Given the description of an element on the screen output the (x, y) to click on. 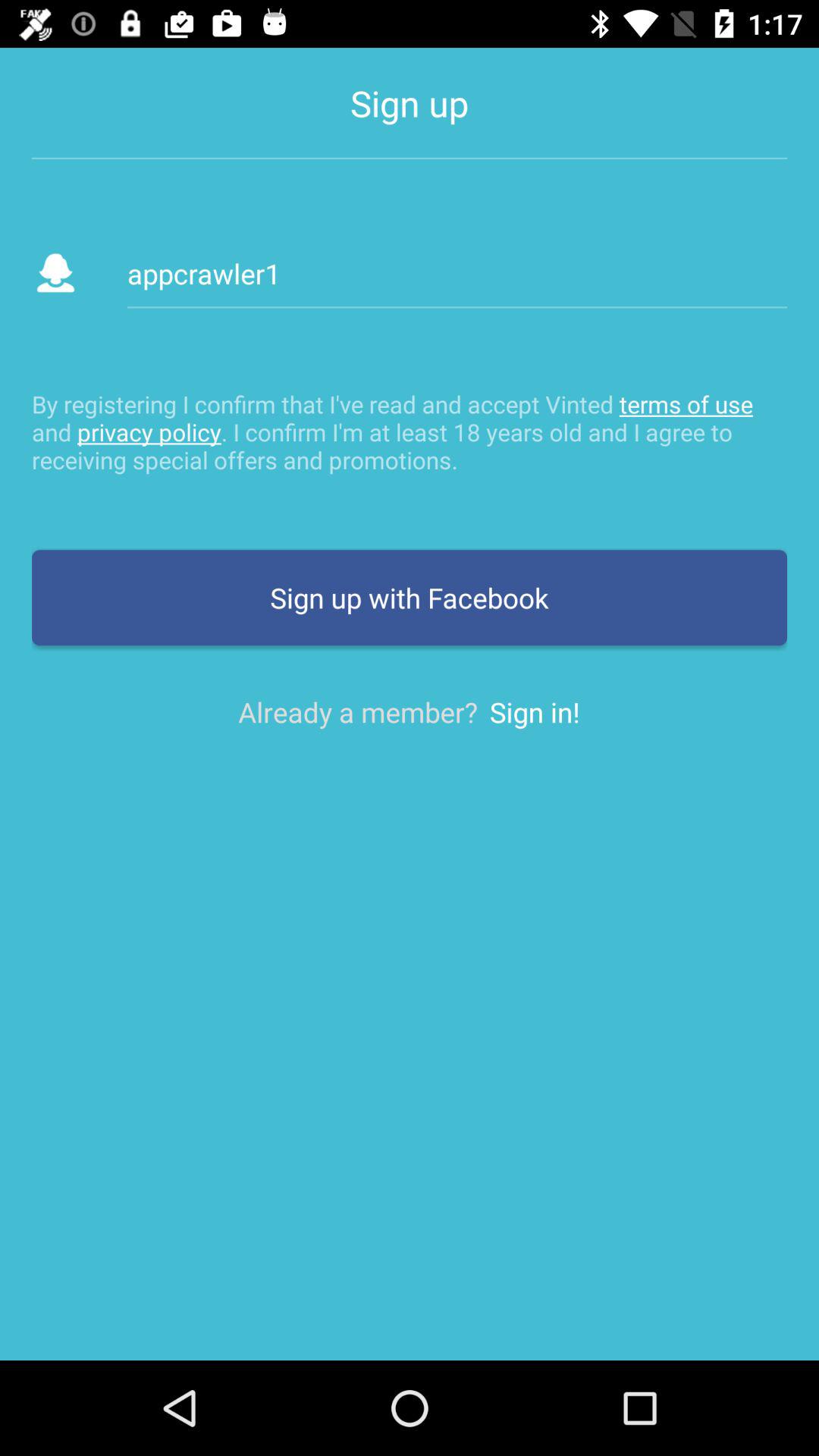
launch the icon above the by registering i icon (457, 273)
